Given the description of an element on the screen output the (x, y) to click on. 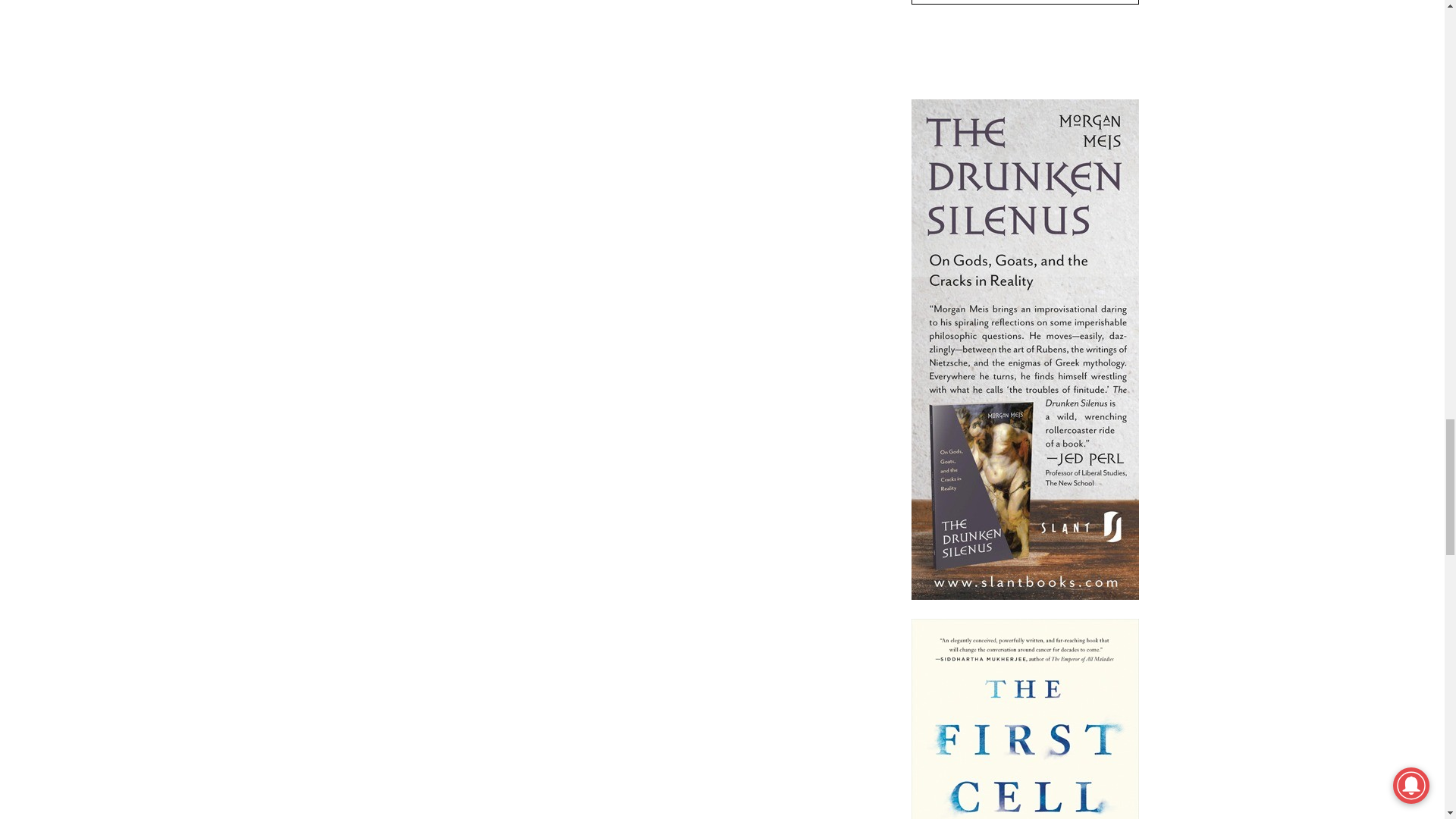
3rd party ad content (1024, 47)
